Given the description of an element on the screen output the (x, y) to click on. 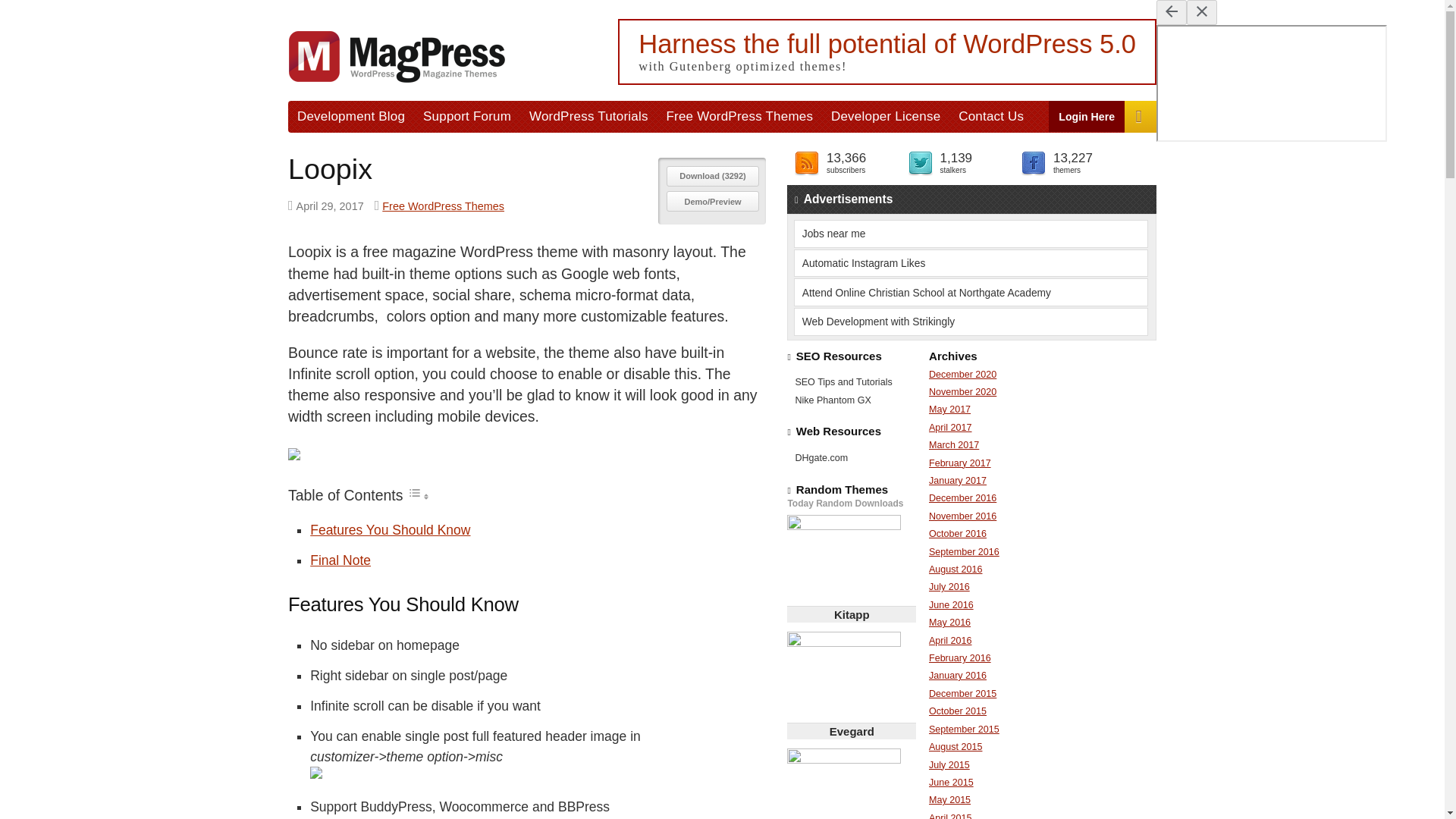
Development Blog (350, 115)
Features You Should Know (390, 529)
Features You Should Know (390, 529)
login to your account here (1086, 115)
Support Forum (466, 115)
Free Responsive WordPress Themes (740, 115)
Contact Us (990, 115)
Login Here (1086, 115)
Contact Us (990, 115)
Purchase our developer license to remove theme credits (885, 115)
Help and support forum (466, 115)
Final Note (340, 560)
Final Note (340, 560)
Development Blog (350, 115)
